Given the description of an element on the screen output the (x, y) to click on. 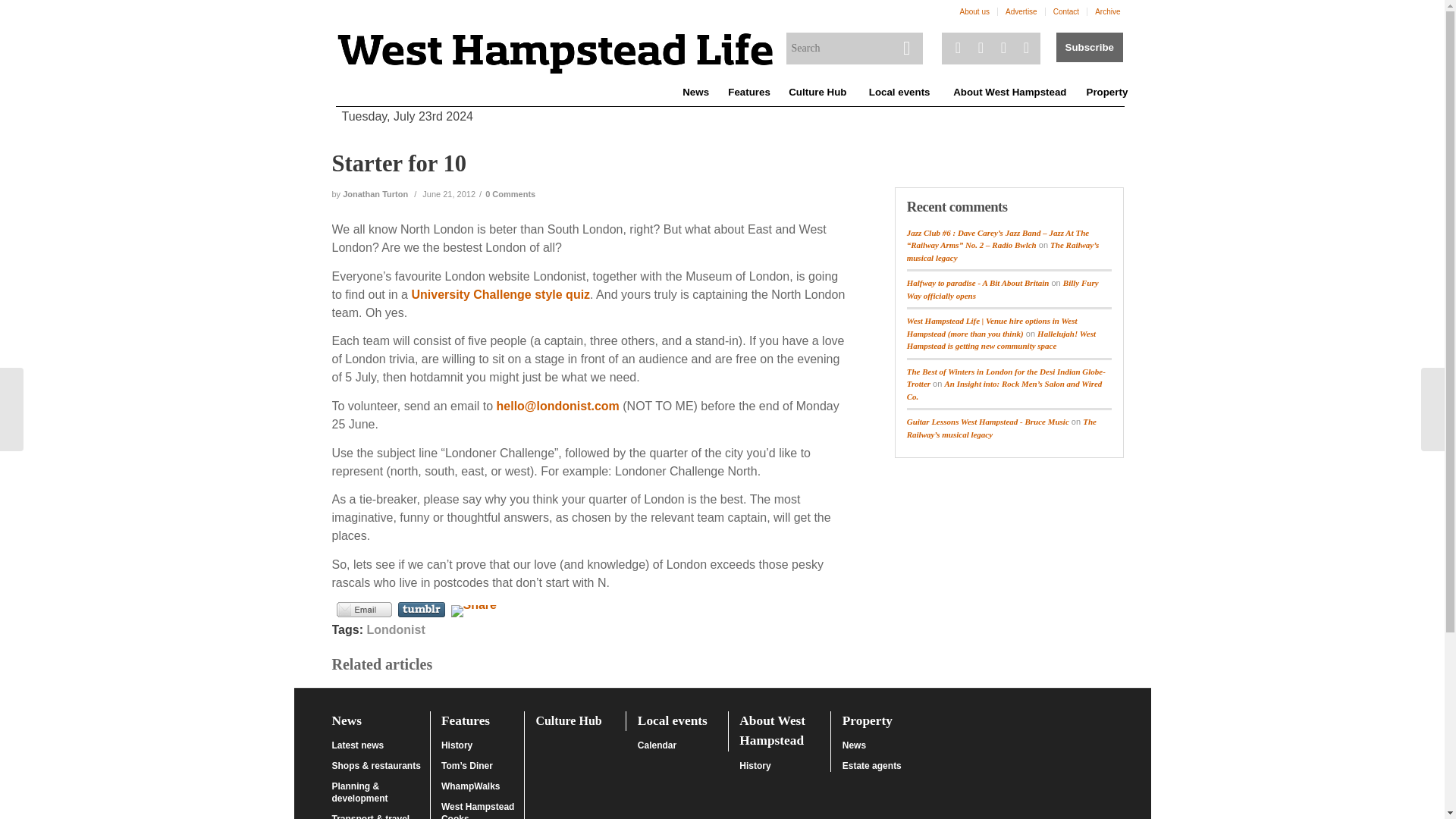
Permanent Link: Starter for 10 (399, 163)
Share on Tumblr (420, 609)
Share via email (363, 609)
Posts by Jonathan Turton (374, 194)
Advertise (1021, 11)
Subscribe (1088, 47)
About us (974, 11)
